Given the description of an element on the screen output the (x, y) to click on. 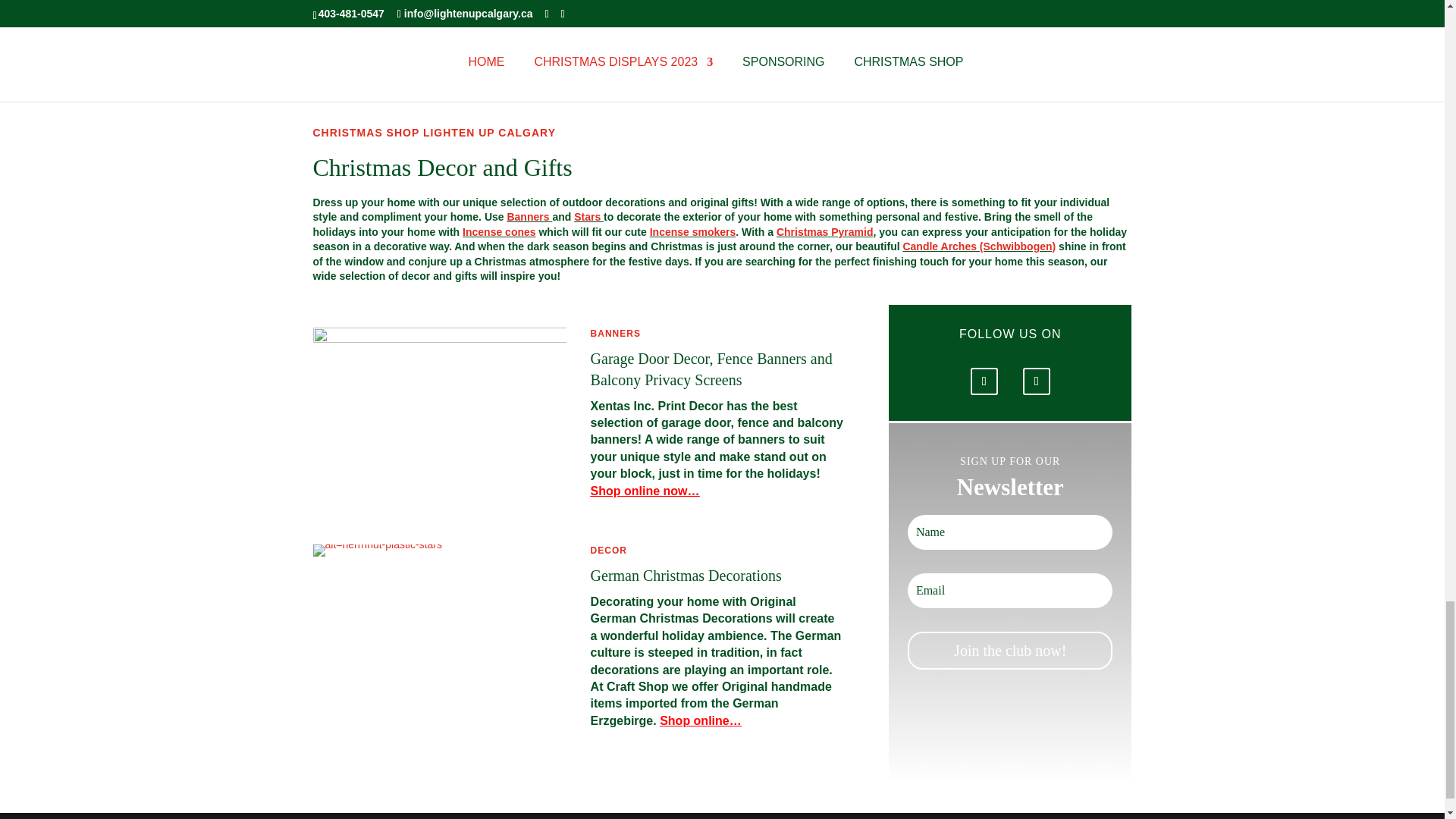
double garage Snowman group (439, 400)
Christmas Pyramid (824, 232)
Incense cones (499, 232)
Follow on Facebook (984, 380)
Stars (586, 216)
Follow on Instagram (1036, 380)
Banners (528, 216)
Incense smokers (692, 232)
All German Christmas Products (377, 550)
